Given the description of an element on the screen output the (x, y) to click on. 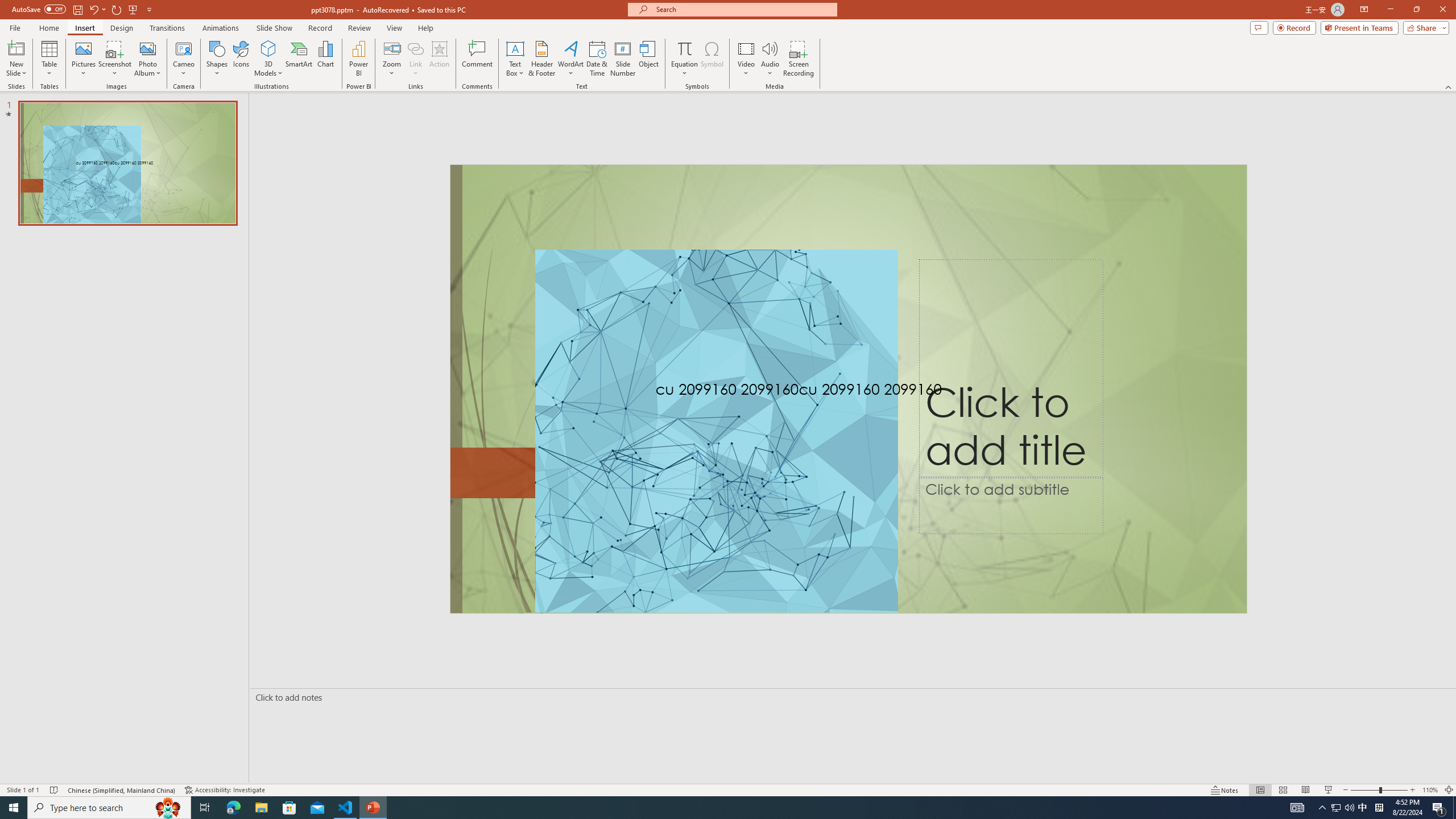
WordArt (570, 58)
Chart... (325, 58)
Date & Time... (596, 58)
Screenshot (114, 58)
